Given the description of an element on the screen output the (x, y) to click on. 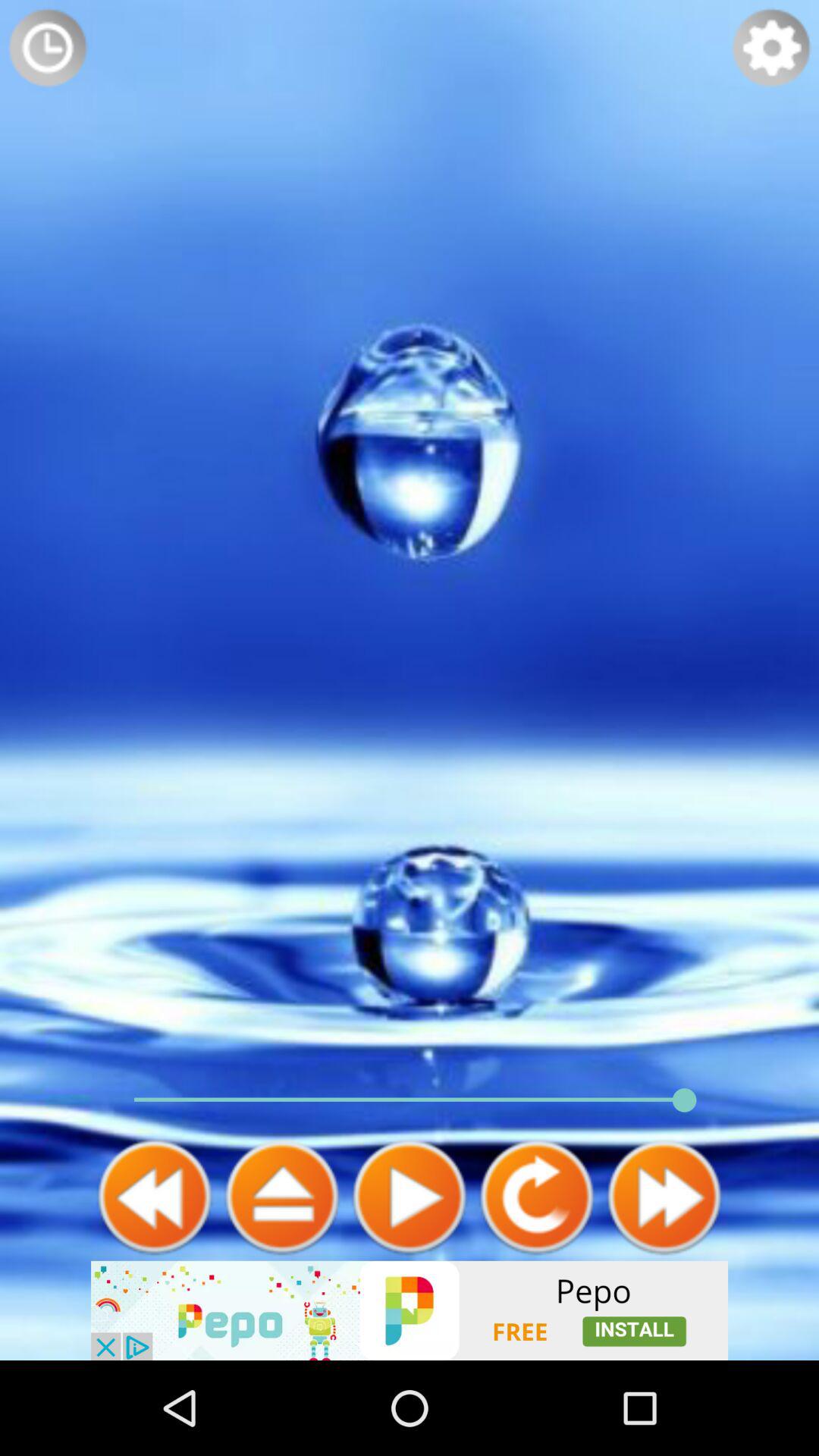
play next (664, 1196)
